Given the description of an element on the screen output the (x, y) to click on. 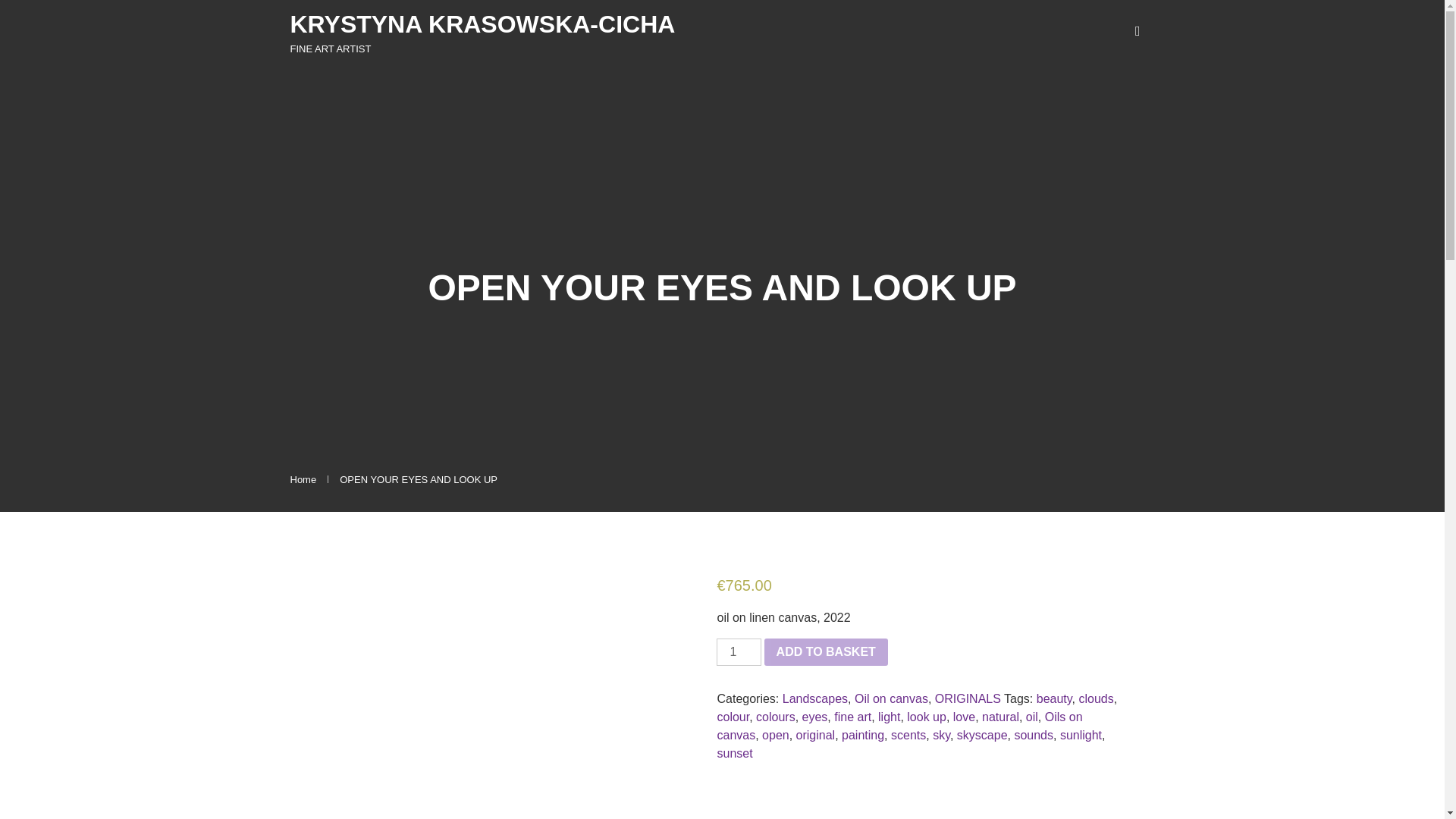
clouds (1095, 698)
open (775, 735)
colours (774, 716)
original (815, 735)
1 (738, 651)
ORIGINALS (967, 698)
ADD TO BASKET (826, 651)
Oil on canvas (891, 698)
Landscapes (815, 698)
beauty (1053, 698)
